Given the description of an element on the screen output the (x, y) to click on. 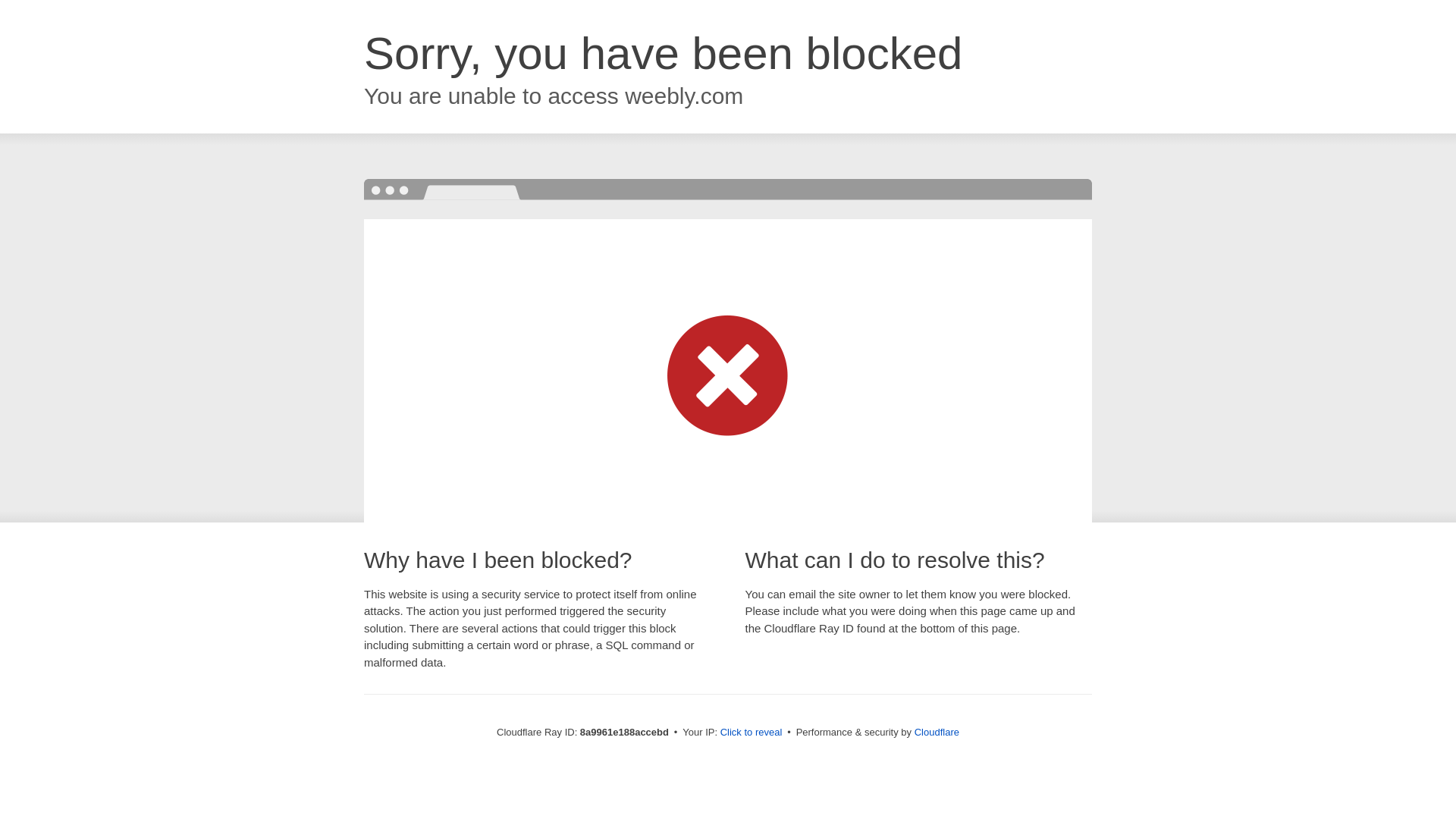
Cloudflare (936, 731)
Click to reveal (751, 732)
